Given the description of an element on the screen output the (x, y) to click on. 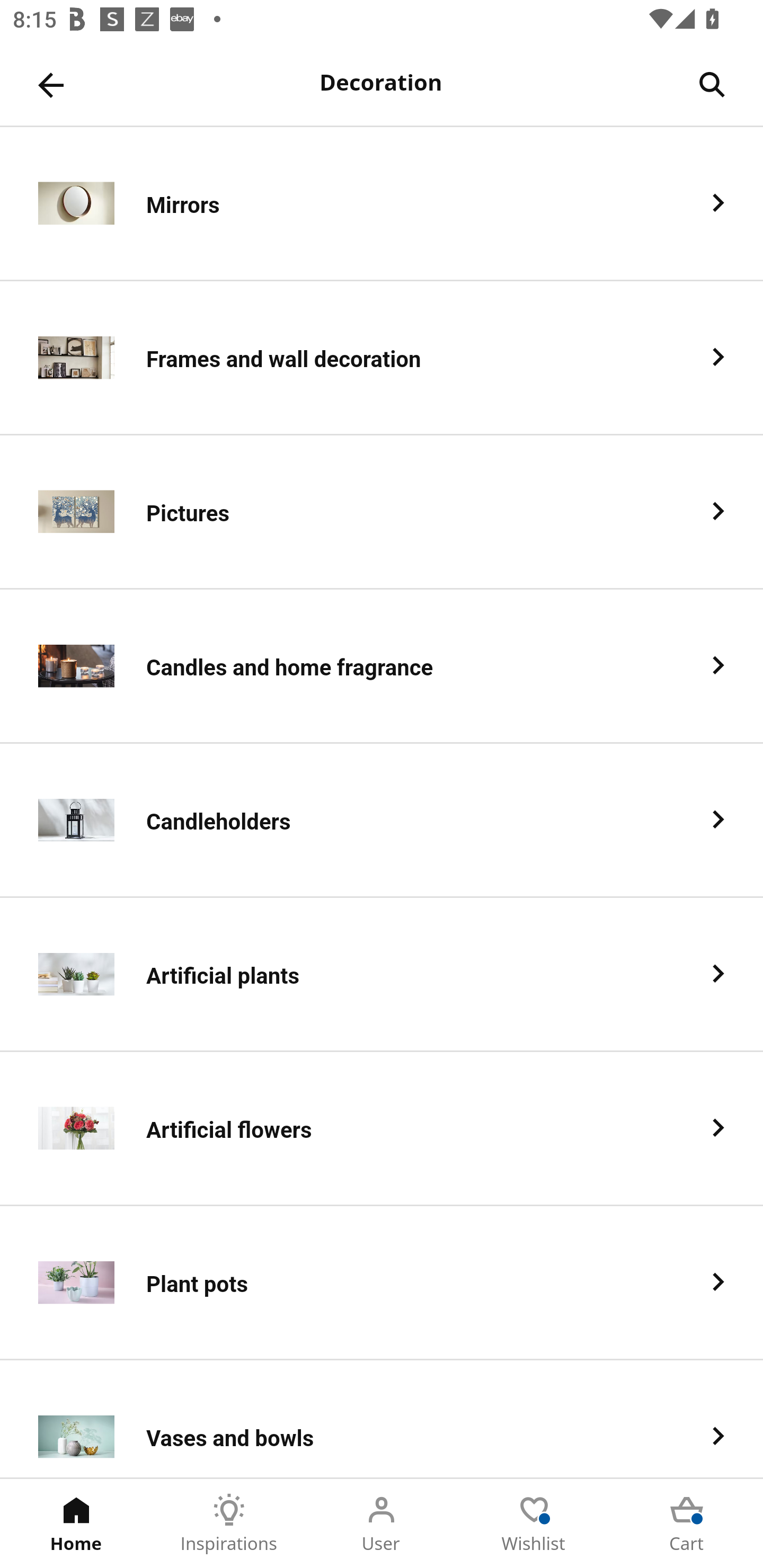
Mirrors (381, 203)
Frames and wall decoration (381, 357)
Pictures (381, 512)
Candles and home fragrance (381, 666)
Candleholders (381, 820)
Artificial plants (381, 975)
Artificial flowers (381, 1128)
Plant pots (381, 1283)
Vases and bowls (381, 1419)
Home
Tab 1 of 5 (76, 1522)
Inspirations
Tab 2 of 5 (228, 1522)
User
Tab 3 of 5 (381, 1522)
Wishlist
Tab 4 of 5 (533, 1522)
Cart
Tab 5 of 5 (686, 1522)
